Given the description of an element on the screen output the (x, y) to click on. 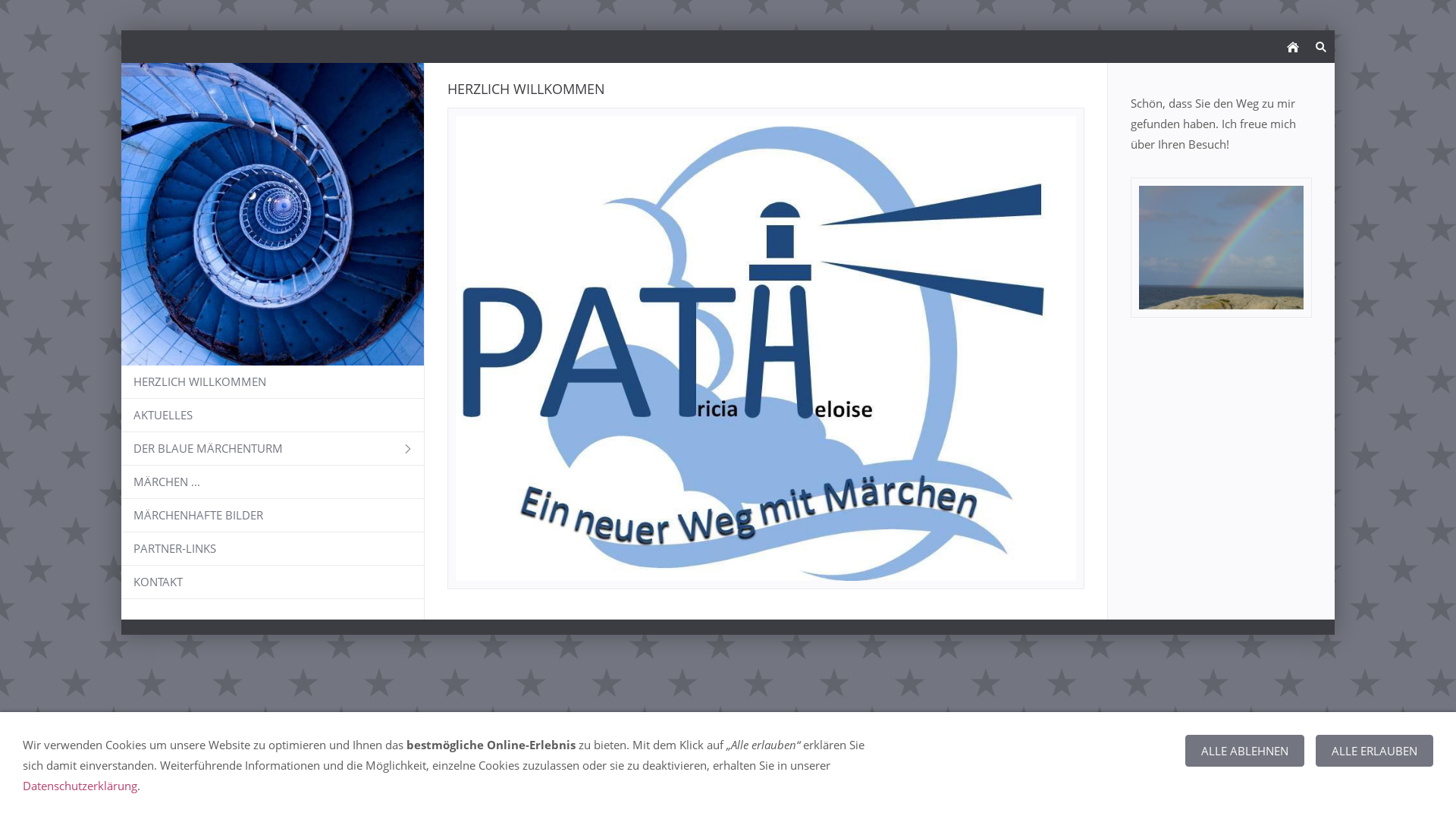
HERZLICH WILLKOMMEN Element type: text (272, 381)
AKTUELLES Element type: text (272, 415)
ALLE ABLEHNEN Element type: text (1244, 750)
KONTAKT Element type: text (272, 582)
PARTNER-LINKS Element type: text (272, 548)
ALLE ERLAUBEN Element type: text (1374, 750)
